Given the description of an element on the screen output the (x, y) to click on. 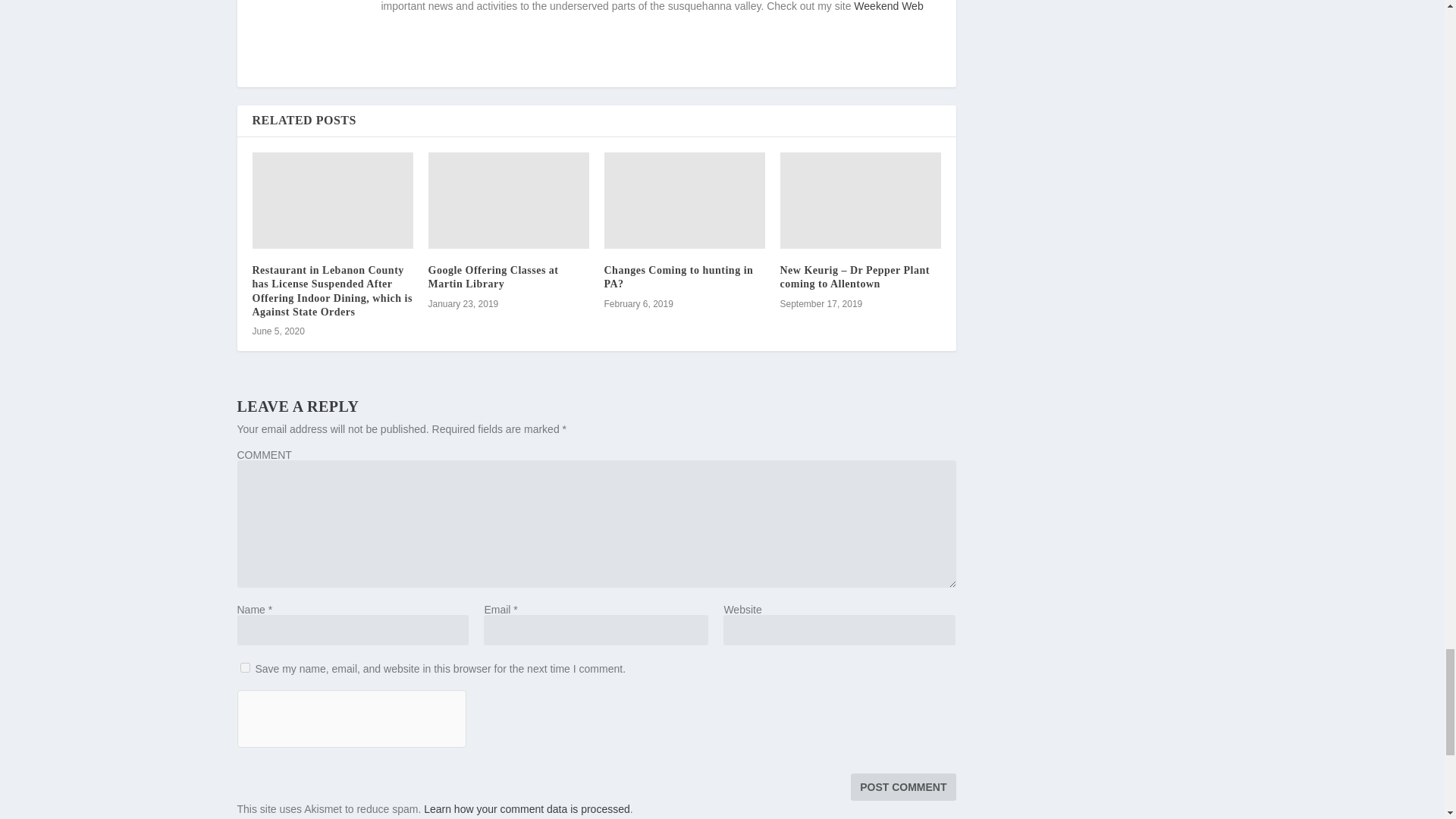
yes (244, 667)
Weekend Web (888, 6)
Post Comment (902, 786)
Changes Coming to hunting in PA? (678, 276)
Google Offering Classes at Martin Library (492, 276)
